Given the description of an element on the screen output the (x, y) to click on. 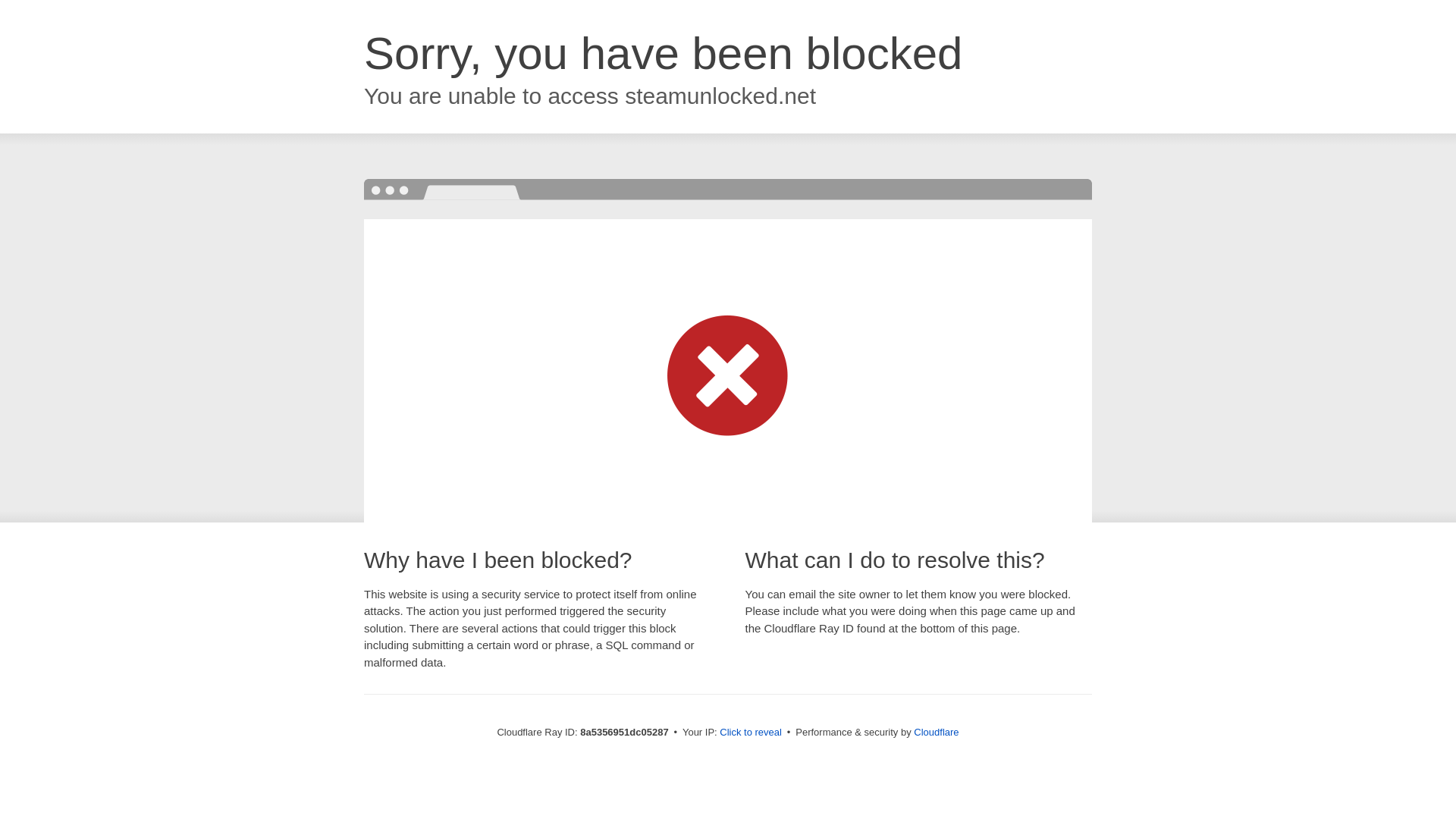
Click to reveal (750, 732)
Cloudflare (936, 731)
